Given the description of an element on the screen output the (x, y) to click on. 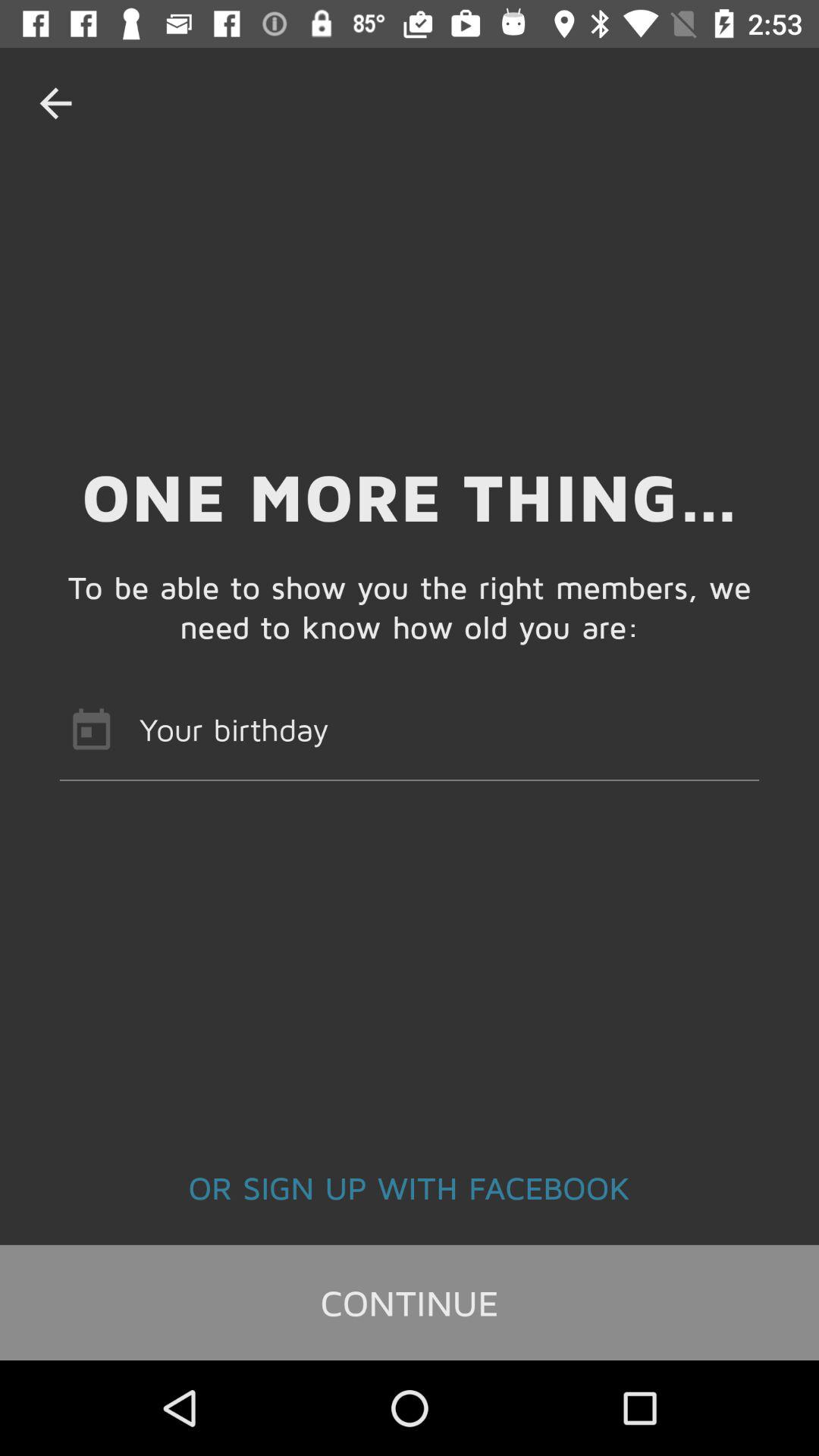
flip to the or sign up (409, 1186)
